Given the description of an element on the screen output the (x, y) to click on. 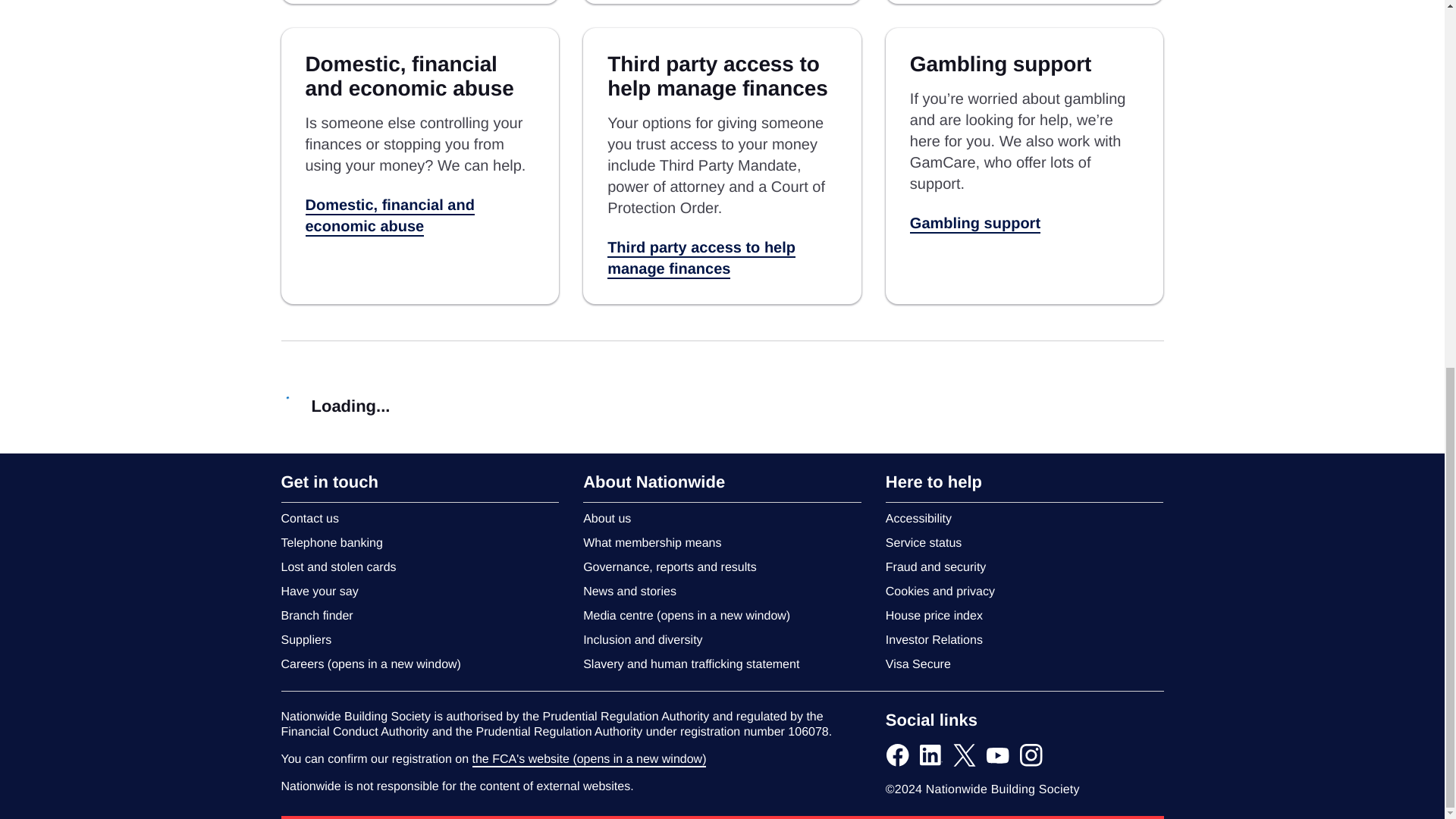
Lost and stolen cards (338, 567)
Gambling support (975, 224)
Branch finder (316, 615)
Telephone banking (331, 543)
Suppliers (306, 640)
Contact us (309, 518)
Third party access to help manage finances (700, 259)
Domestic, financial and economic abuse (389, 216)
Have your say (319, 591)
